Given the description of an element on the screen output the (x, y) to click on. 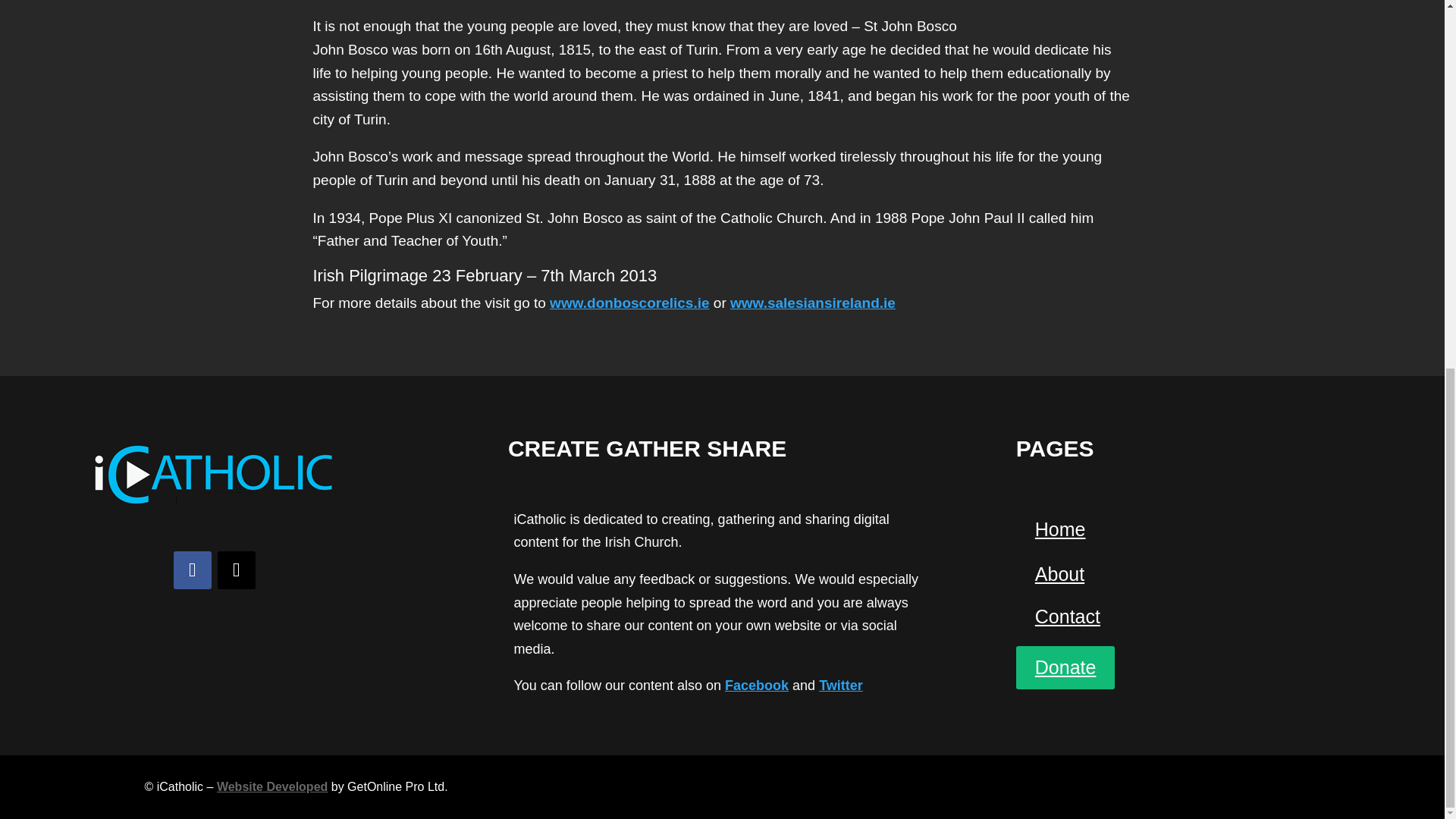
iCatholic-logo-2021 (214, 474)
Follow on Facebook (192, 569)
Follow on X (236, 569)
